Given the description of an element on the screen output the (x, y) to click on. 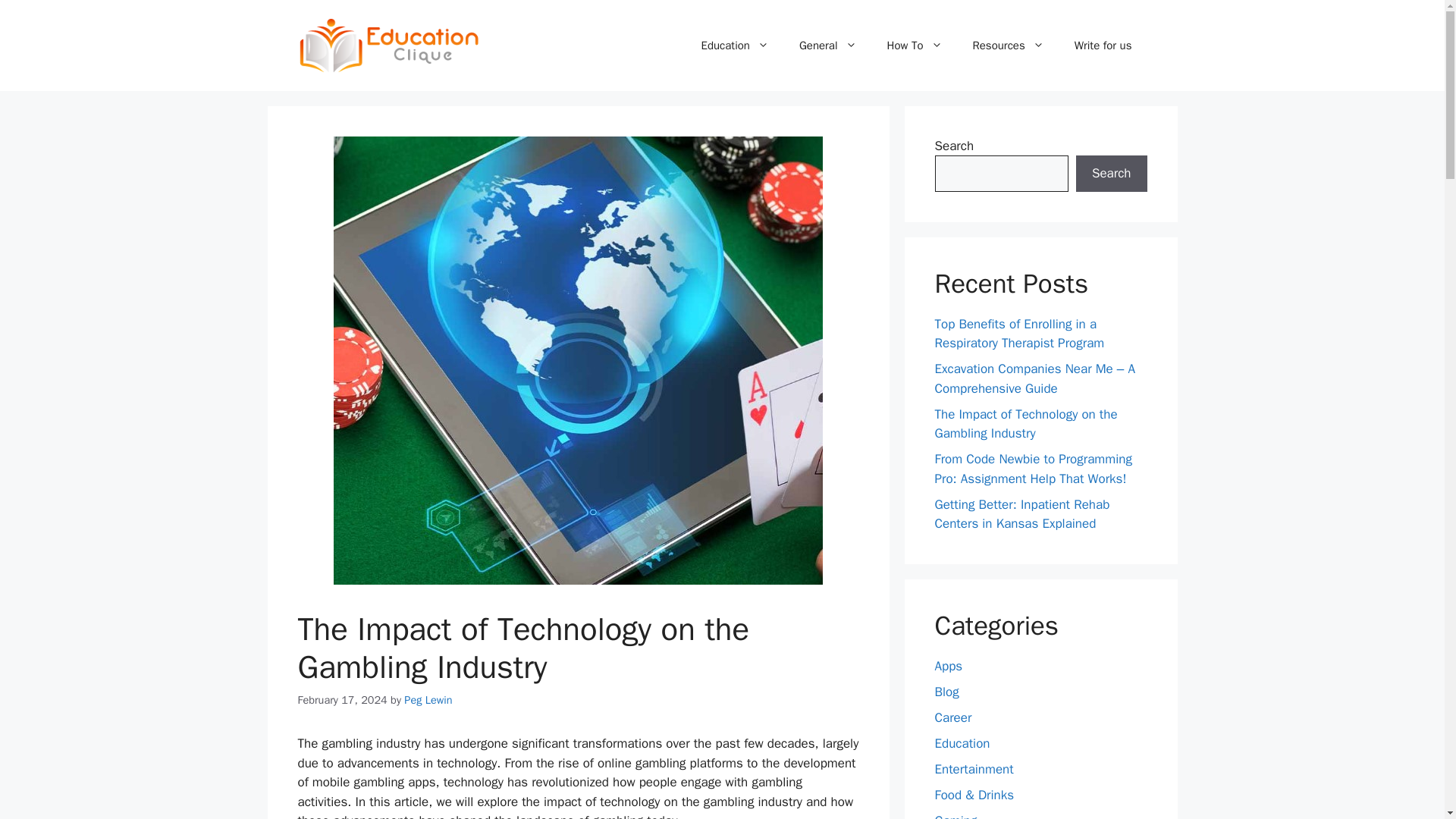
Education (734, 44)
View all posts by Peg Lewin (427, 699)
General (828, 44)
Peg Lewin (427, 699)
Write for us (1103, 44)
How To (915, 44)
Resources (1007, 44)
